Given the description of an element on the screen output the (x, y) to click on. 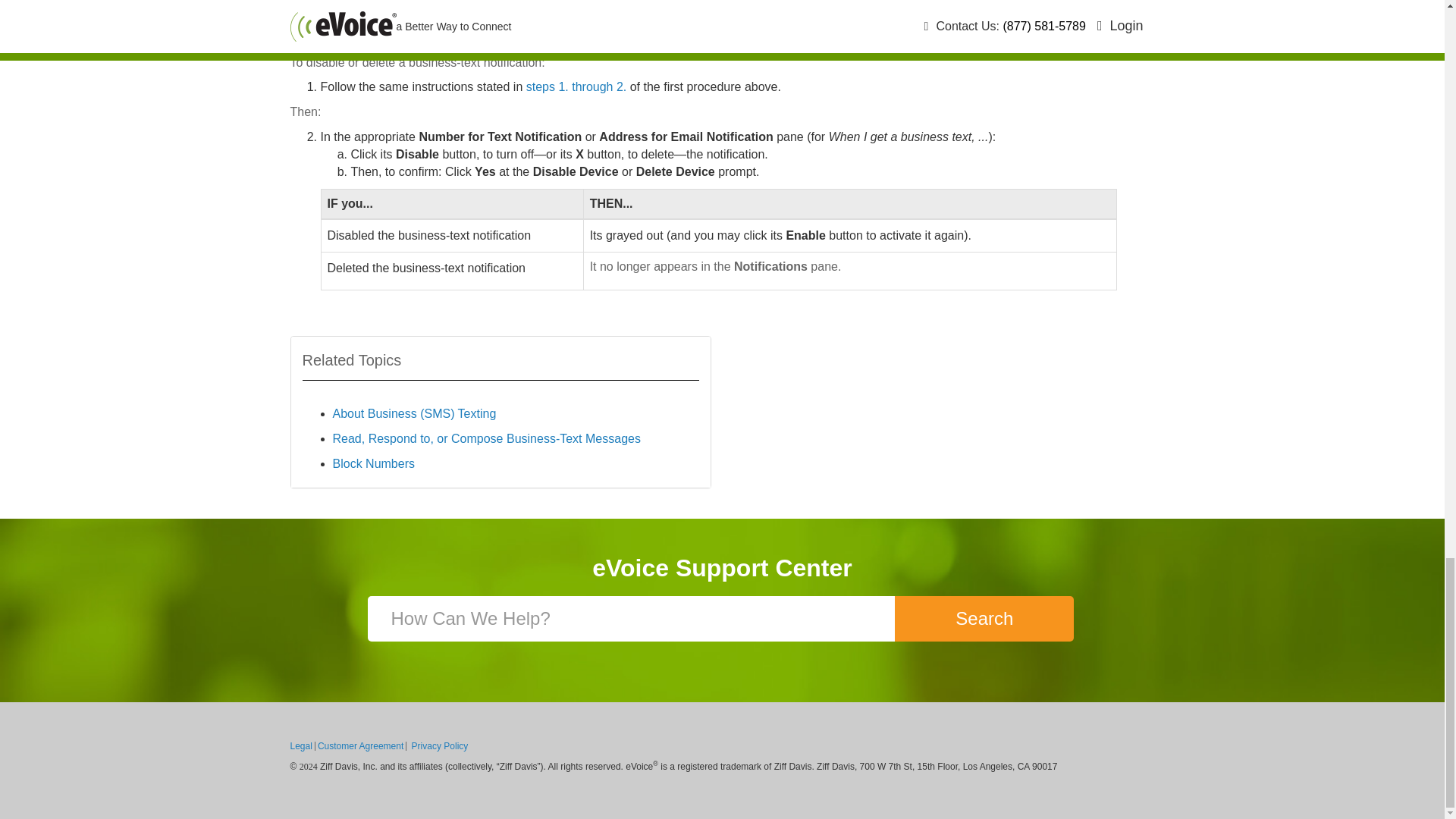
Search input (633, 618)
steps 1. through 2. (576, 86)
